Given the description of an element on the screen output the (x, y) to click on. 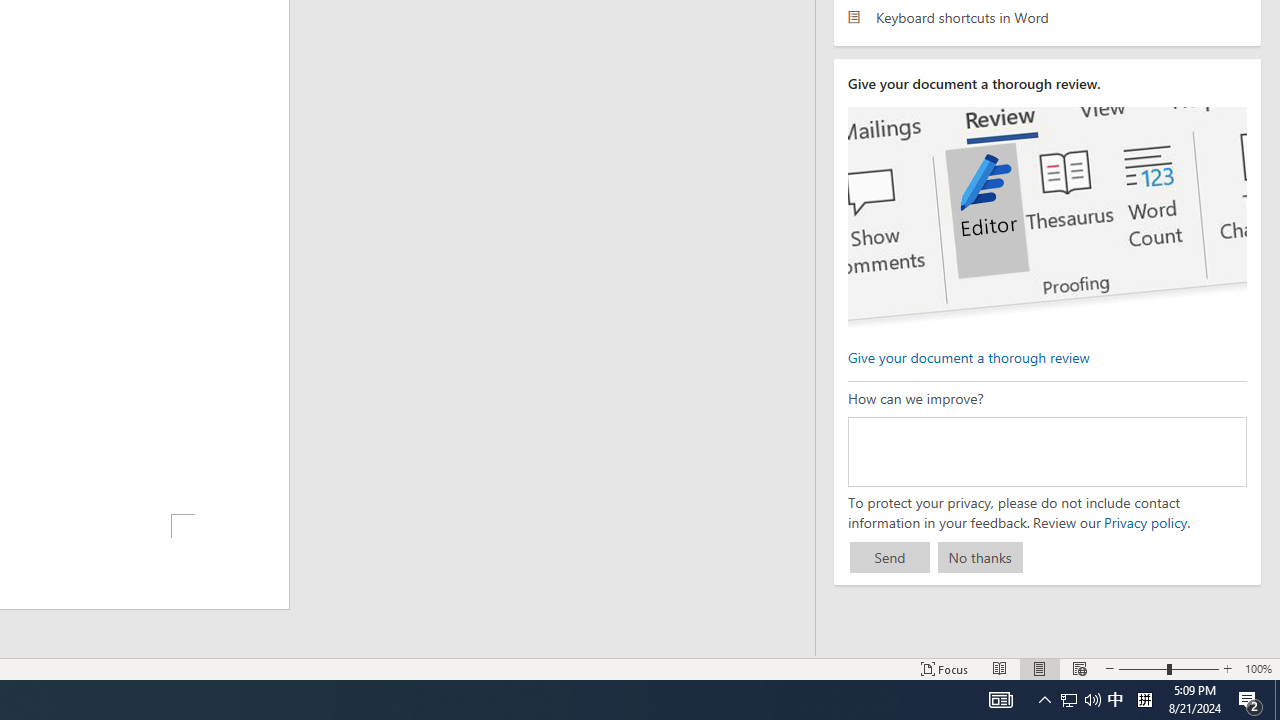
Zoom 100% (1258, 668)
Zoom (1168, 668)
Give your document a thorough review (968, 356)
How can we improve? (1046, 451)
editor ui screenshot (1046, 218)
Send (889, 557)
Keyboard shortcuts in Word (1047, 16)
Privacy policy (1144, 522)
No thanks (980, 557)
